Given the description of an element on the screen output the (x, y) to click on. 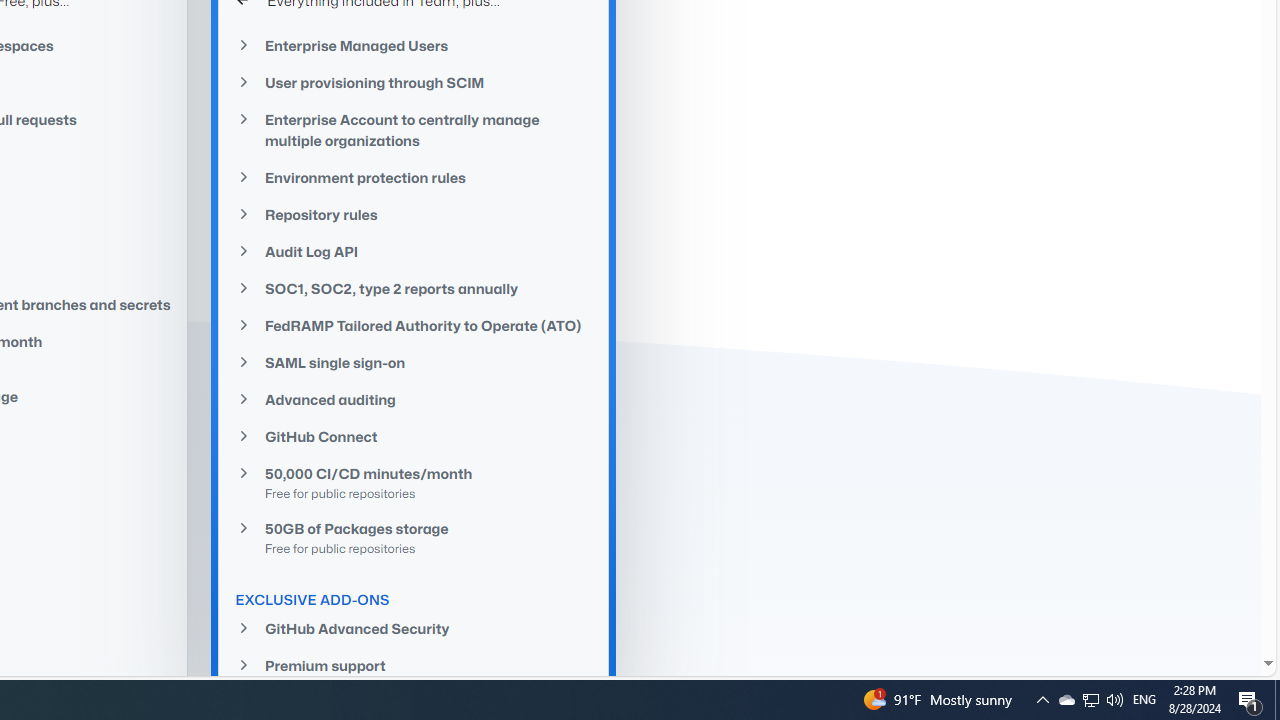
50GB of Packages storageFree for public repositories (413, 537)
SAML single sign-on (413, 362)
GitHub Advanced Security (413, 628)
Repository rules (413, 214)
Advanced auditing (413, 399)
SAML single sign-on (413, 363)
Audit Log API (413, 251)
SOC1, SOC2, type 2 reports annually (413, 288)
Premium support (413, 664)
Advanced auditing (413, 399)
User provisioning through SCIM (413, 82)
GitHub Connect (413, 436)
50GB of Packages storage Free for public repositories (413, 537)
SOC1, SOC2, type 2 reports annually (413, 289)
